Given the description of an element on the screen output the (x, y) to click on. 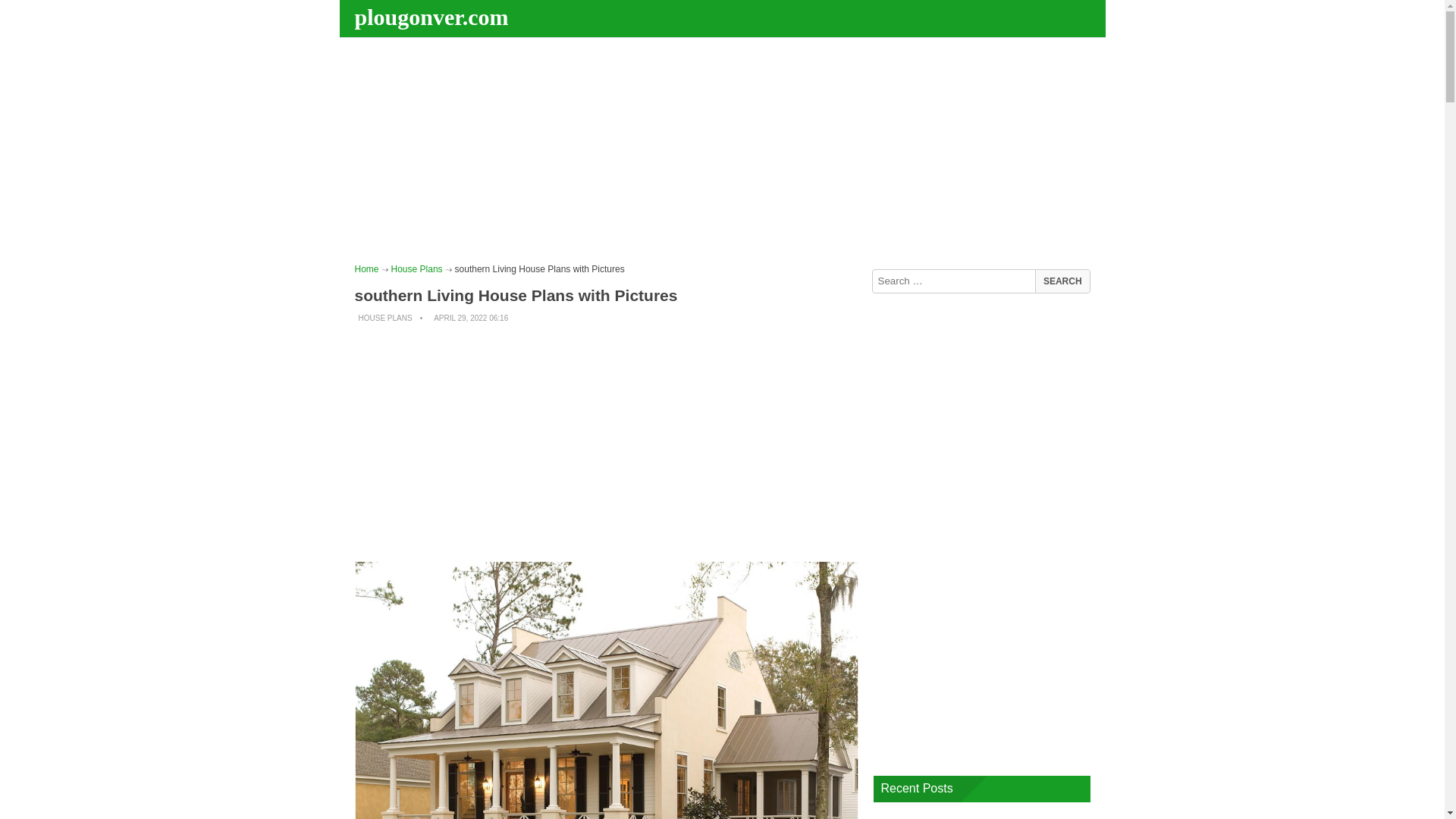
Advertisement (607, 443)
Home (366, 268)
plougonver.com (433, 16)
Search (1062, 281)
HOUSE PLANS (385, 317)
Search (1062, 281)
House Plans (416, 268)
